Given the description of an element on the screen output the (x, y) to click on. 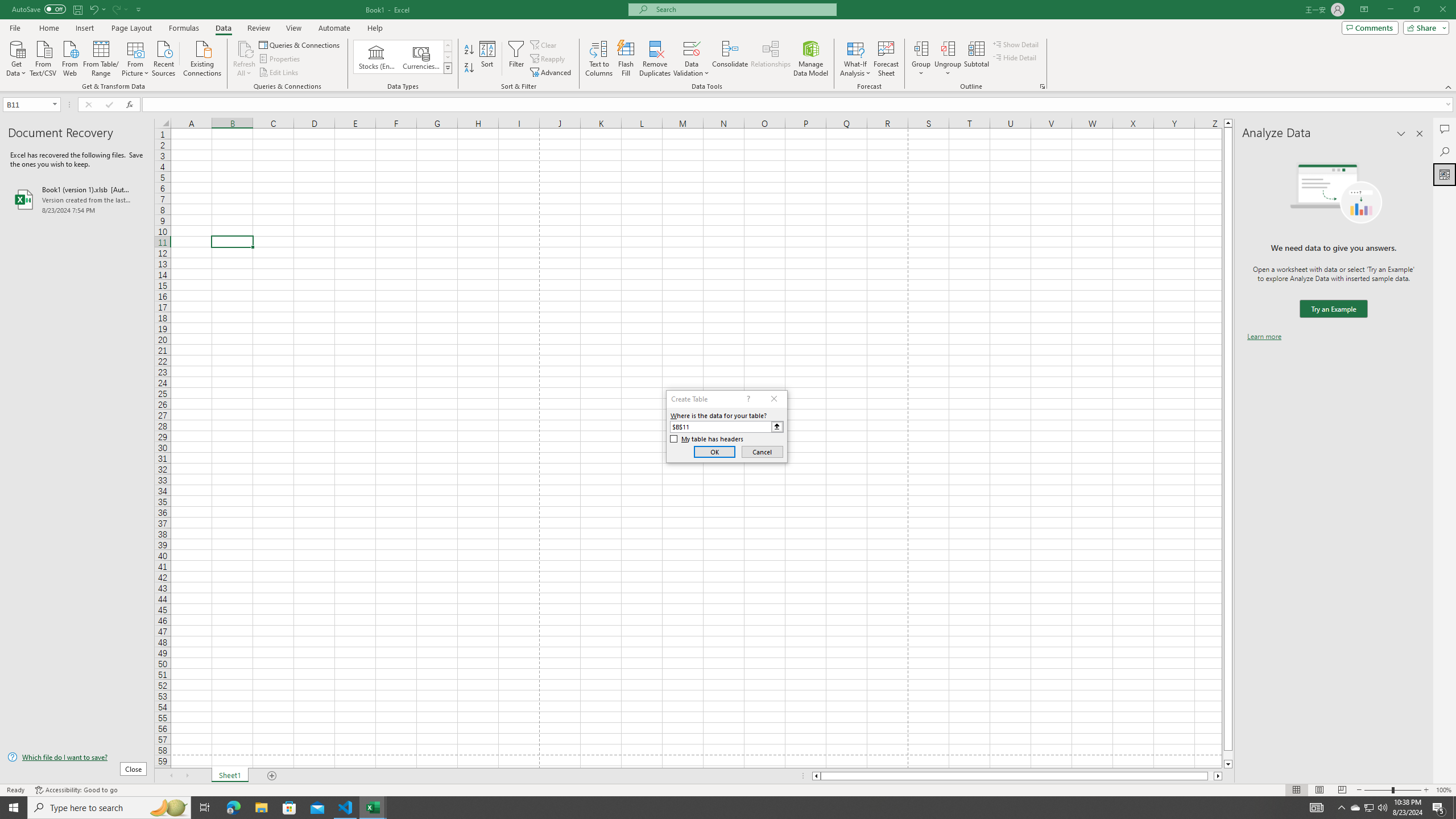
Formula Bar (799, 104)
Clear (544, 44)
From Text/CSV (43, 57)
Ungroup... (947, 58)
Row Down (448, 56)
Automate (334, 28)
Recent Sources (163, 57)
